Given the description of an element on the screen output the (x, y) to click on. 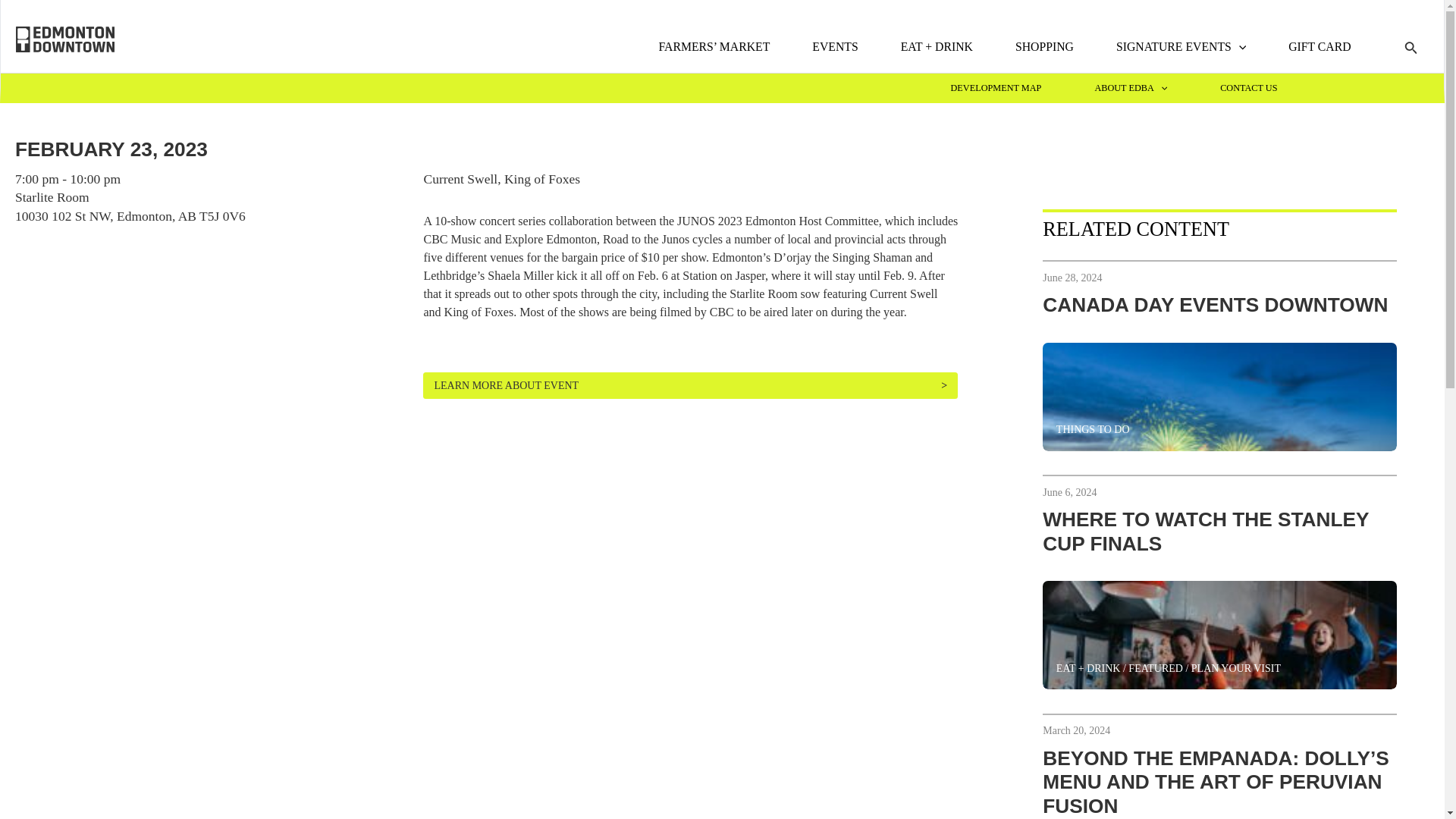
SHOPPING (1044, 46)
EVENTS (834, 46)
GIFT CARD (1319, 46)
CONTACT US (1248, 88)
ABOUT EDBA (1130, 88)
SIGNATURE EVENTS (1181, 46)
SEARCH (1411, 48)
DEVELOPMENT MAP (995, 88)
